Given the description of an element on the screen output the (x, y) to click on. 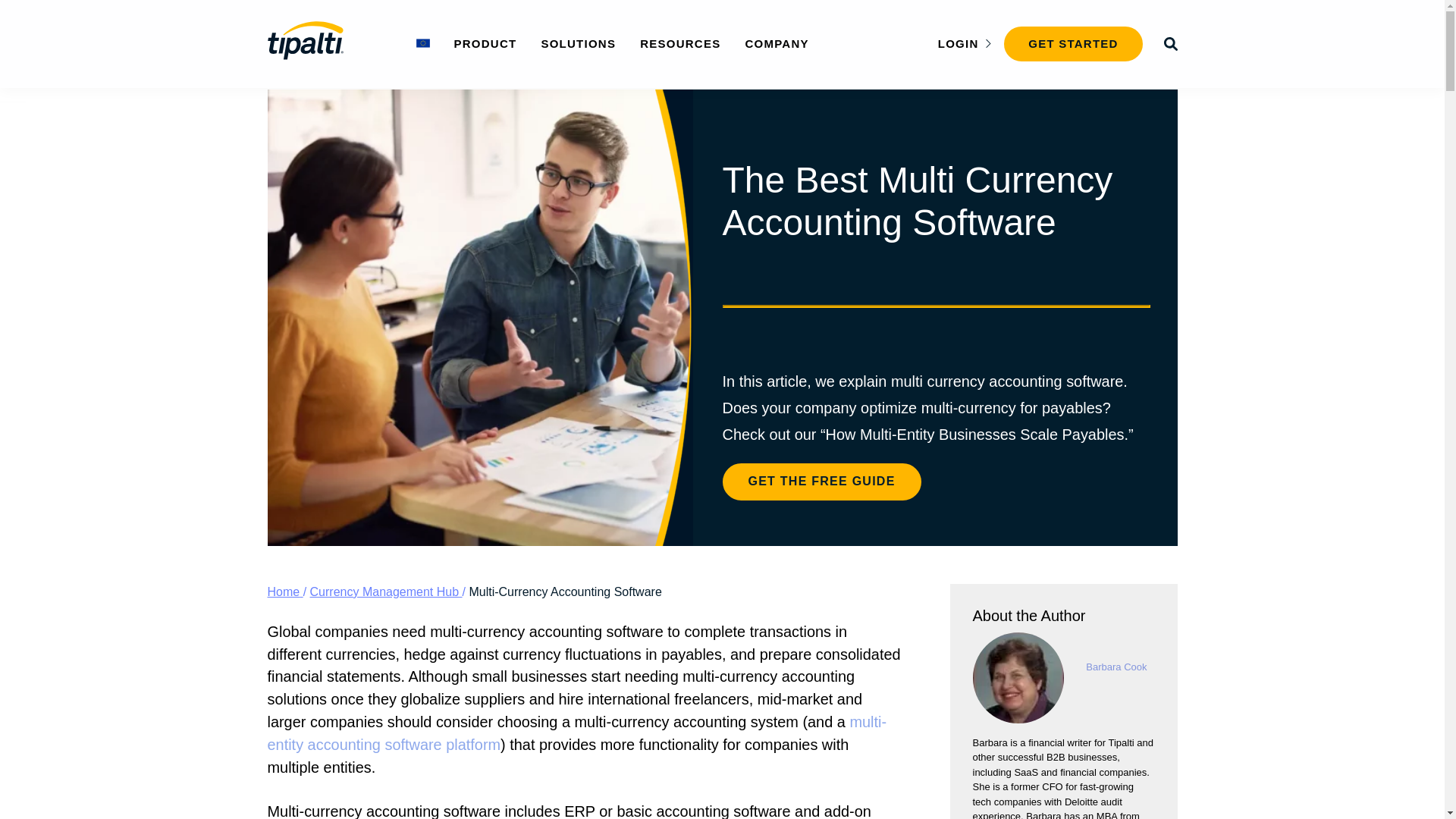
PRODUCT (484, 42)
RESOURCES (680, 42)
SOLUTIONS (577, 42)
